Given the description of an element on the screen output the (x, y) to click on. 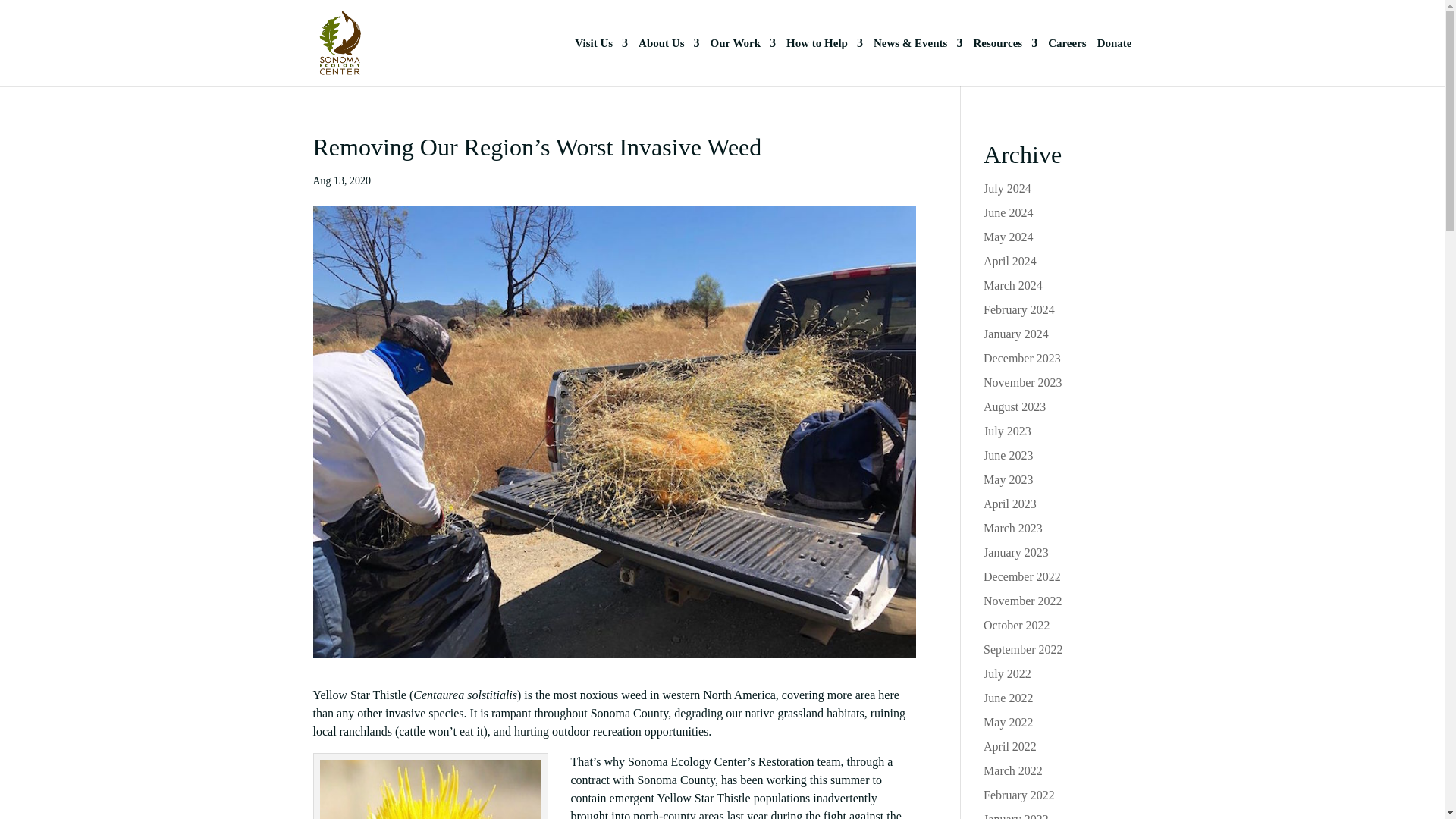
About Us (668, 61)
Visit Us (601, 61)
Our Work (743, 61)
